Given the description of an element on the screen output the (x, y) to click on. 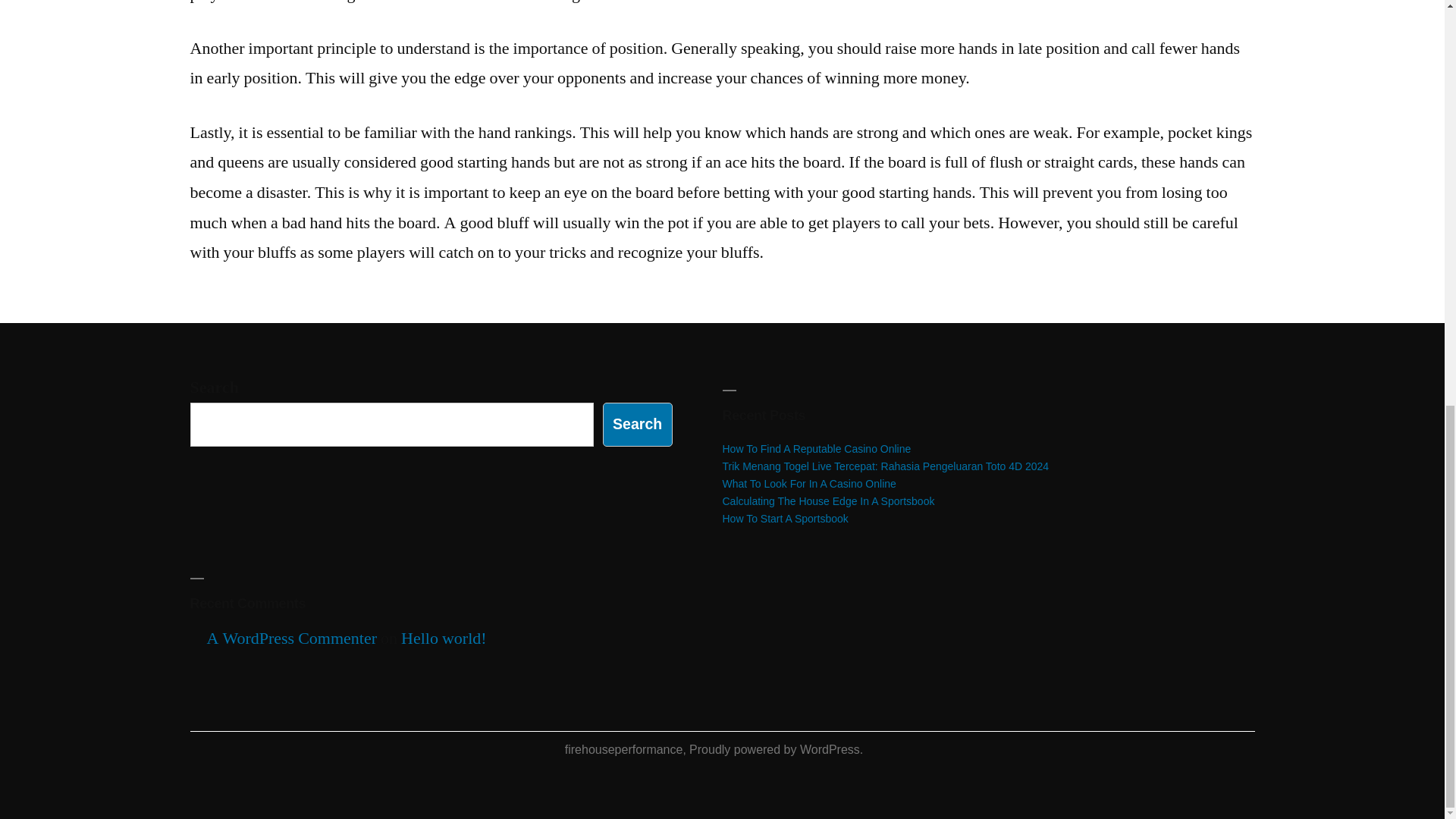
firehouseperformance (623, 748)
Proudly powered by WordPress. (775, 748)
A WordPress Commenter (291, 638)
How To Start A Sportsbook (784, 518)
Calculating The House Edge In A Sportsbook (828, 500)
What To Look For In A Casino Online (808, 483)
Search (637, 423)
Hello world! (443, 638)
How To Find A Reputable Casino Online (816, 449)
